Given the description of an element on the screen output the (x, y) to click on. 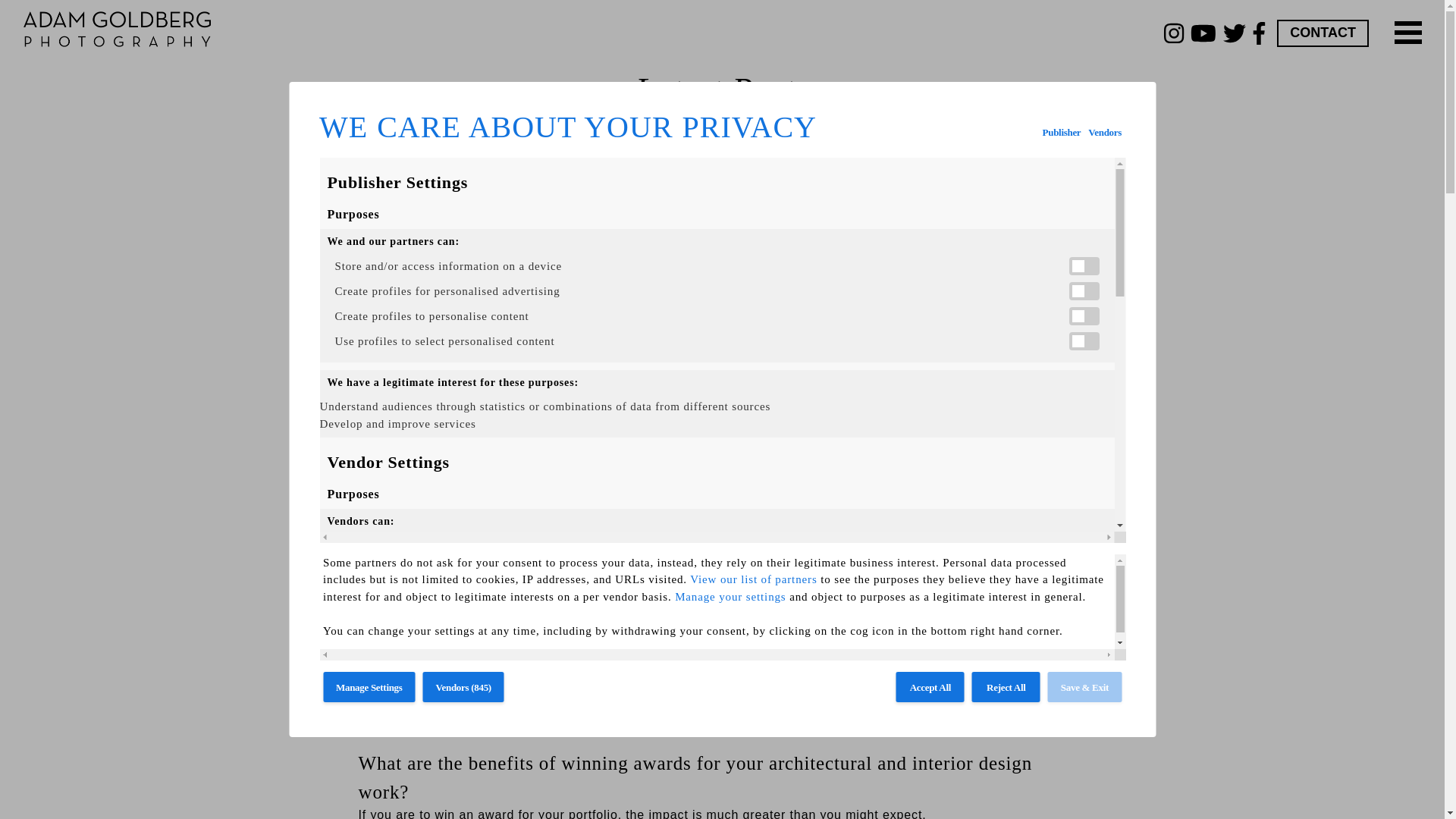
CONTACT (1322, 32)
Follow Adam Goldberg on YouTube (1207, 33)
Follow Adam Goldberg on Instagram (1177, 33)
View our list of partners (754, 579)
Manage your settings (730, 596)
Follow Adam Goldberg on Twitter (1082, 123)
